Given the description of an element on the screen output the (x, y) to click on. 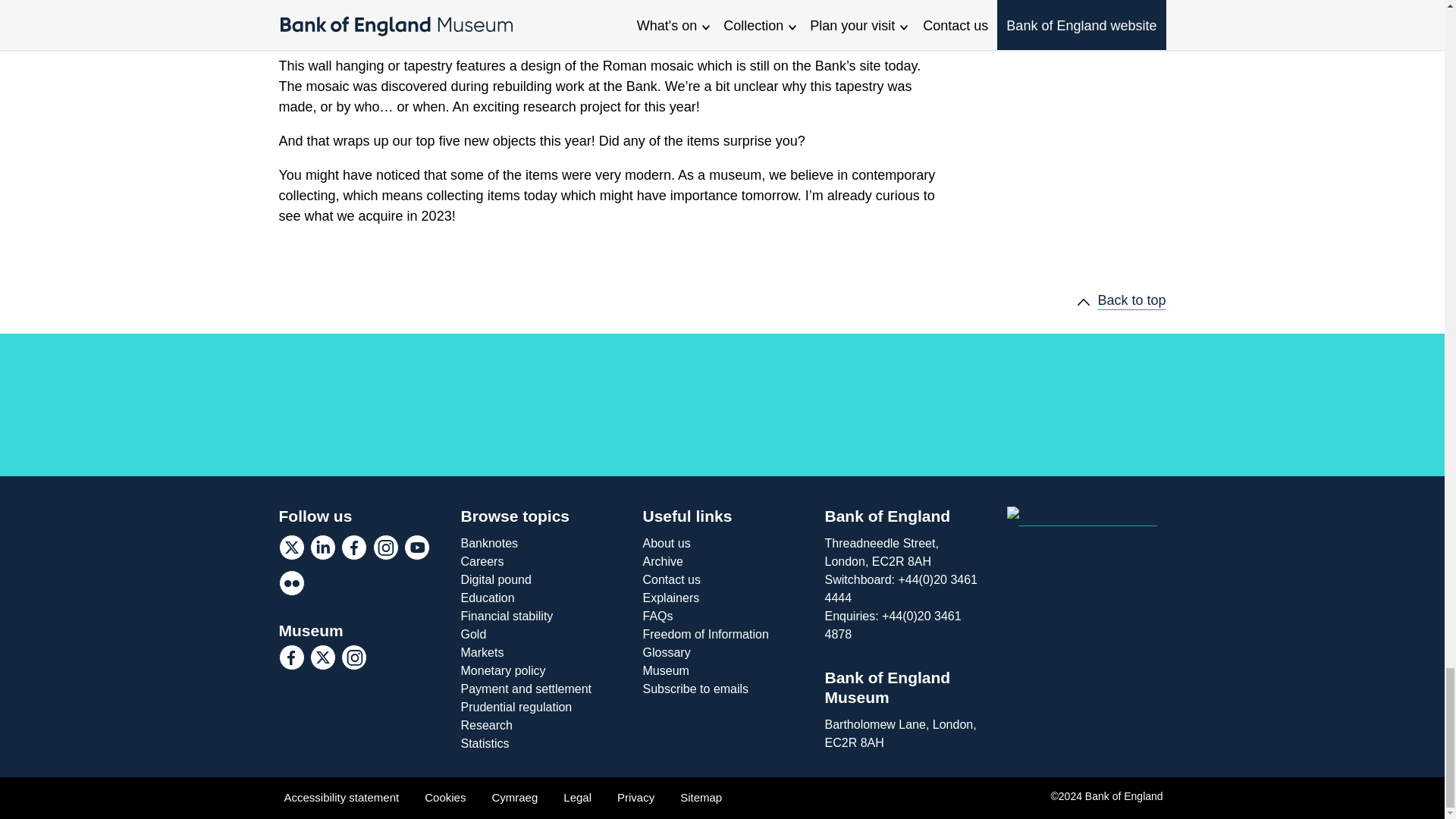
Opens in a new window (416, 547)
Opens in a new window (353, 547)
Opens in a new window (291, 657)
Opens in a new window (291, 547)
Opens in a new window (323, 547)
Page Survey (1052, 405)
Opens in a new window (385, 547)
Back to top (1121, 300)
Back to top (1121, 300)
Opens in a new window (291, 583)
